Given the description of an element on the screen output the (x, y) to click on. 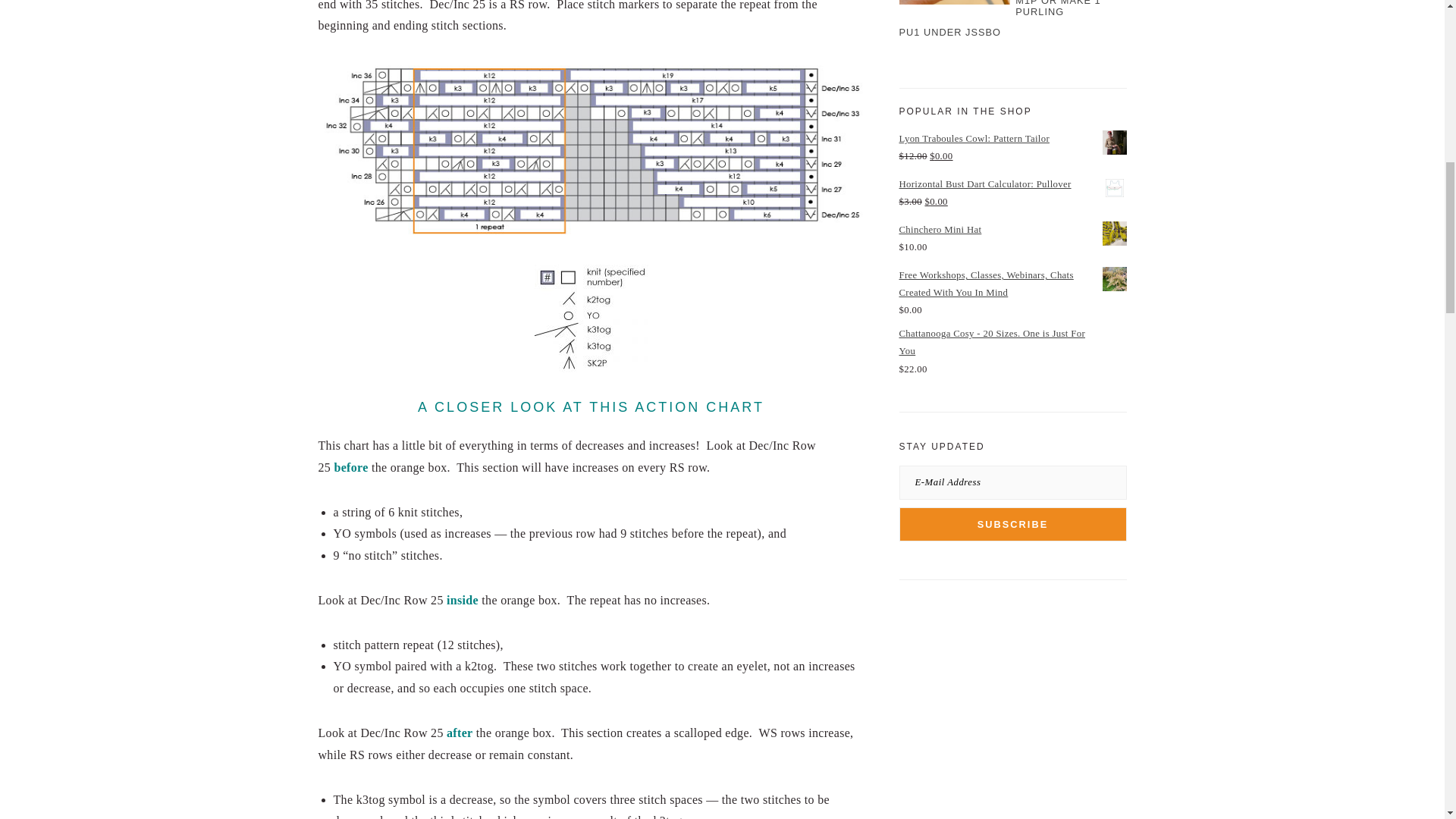
Subscribe (1012, 523)
